Given the description of an element on the screen output the (x, y) to click on. 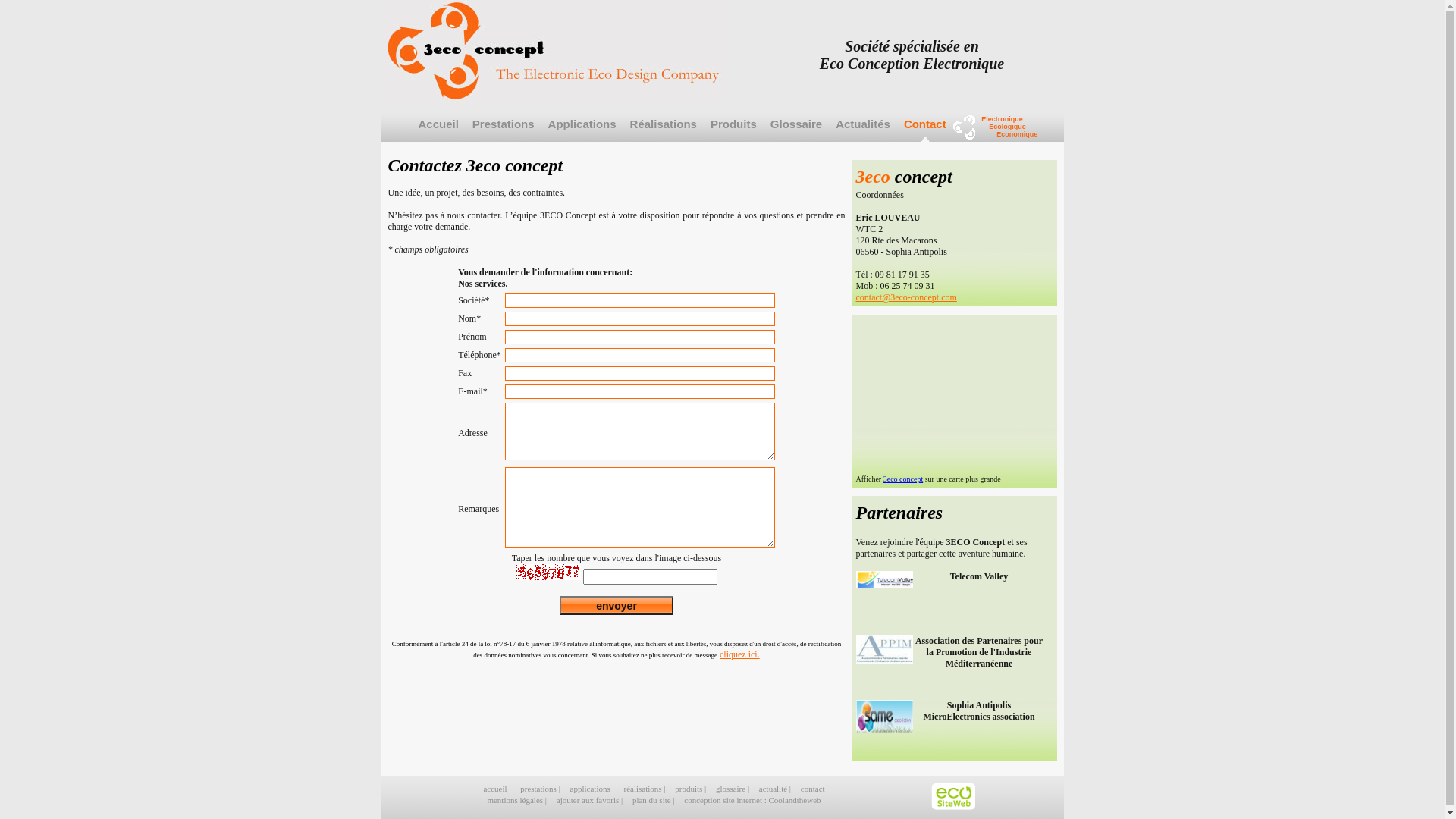
contact Element type: text (812, 788)
Applications Element type: text (582, 131)
produits | Element type: text (691, 788)
contact@3eco-concept.com Element type: text (905, 296)
plan du site | Element type: text (654, 799)
glossaire | Element type: text (733, 788)
Produits Element type: text (733, 131)
Glossaire Element type: text (795, 131)
conception site internet : Coolandtheweb Element type: text (752, 799)
envoyer Element type: text (616, 605)
Contact Element type: text (925, 131)
3eco concept Element type: text (902, 478)
cliquez ici. Element type: text (739, 654)
Prestations Element type: text (503, 131)
ajouter aux favoris | Element type: text (590, 799)
accueil | Element type: text (497, 788)
prestations | Element type: text (540, 788)
applications | Element type: text (593, 788)
Accueil Element type: text (437, 131)
